Given the description of an element on the screen output the (x, y) to click on. 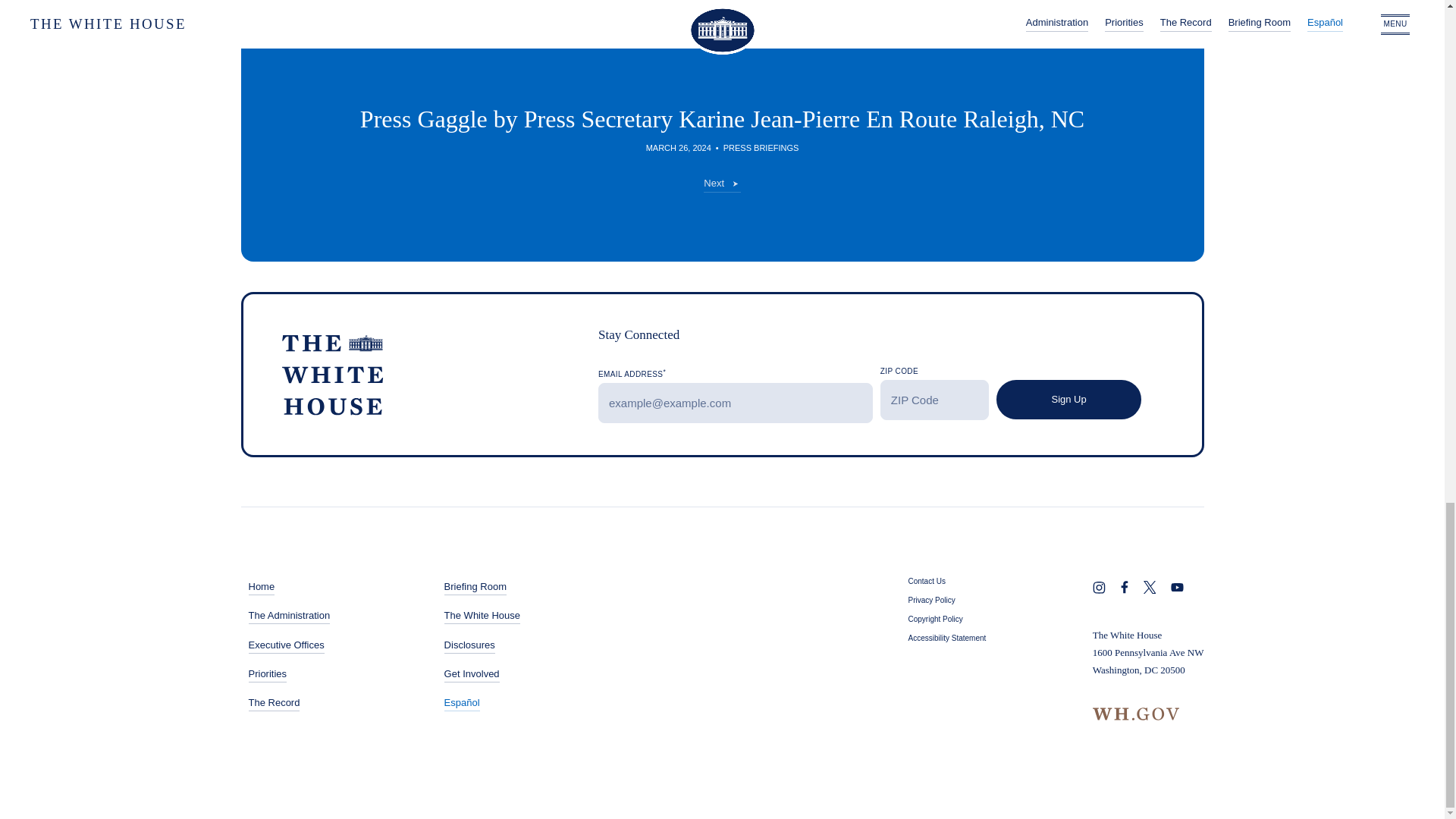
Sign Up (1068, 399)
